Given the description of an element on the screen output the (x, y) to click on. 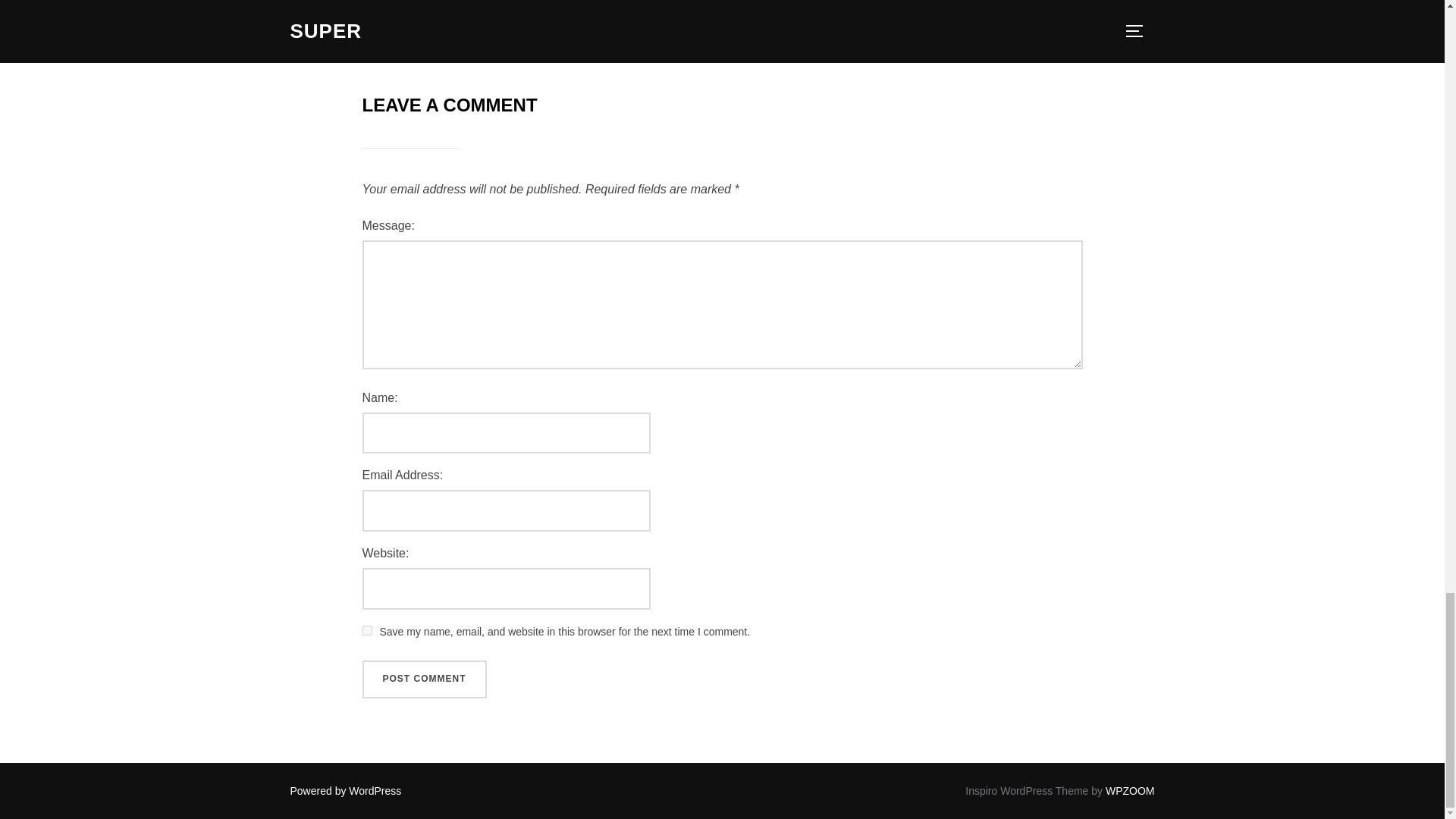
yes (367, 630)
Powered by WordPress (345, 790)
Post Comment (424, 679)
Post Comment (424, 679)
WPZOOM (1129, 790)
